Given the description of an element on the screen output the (x, y) to click on. 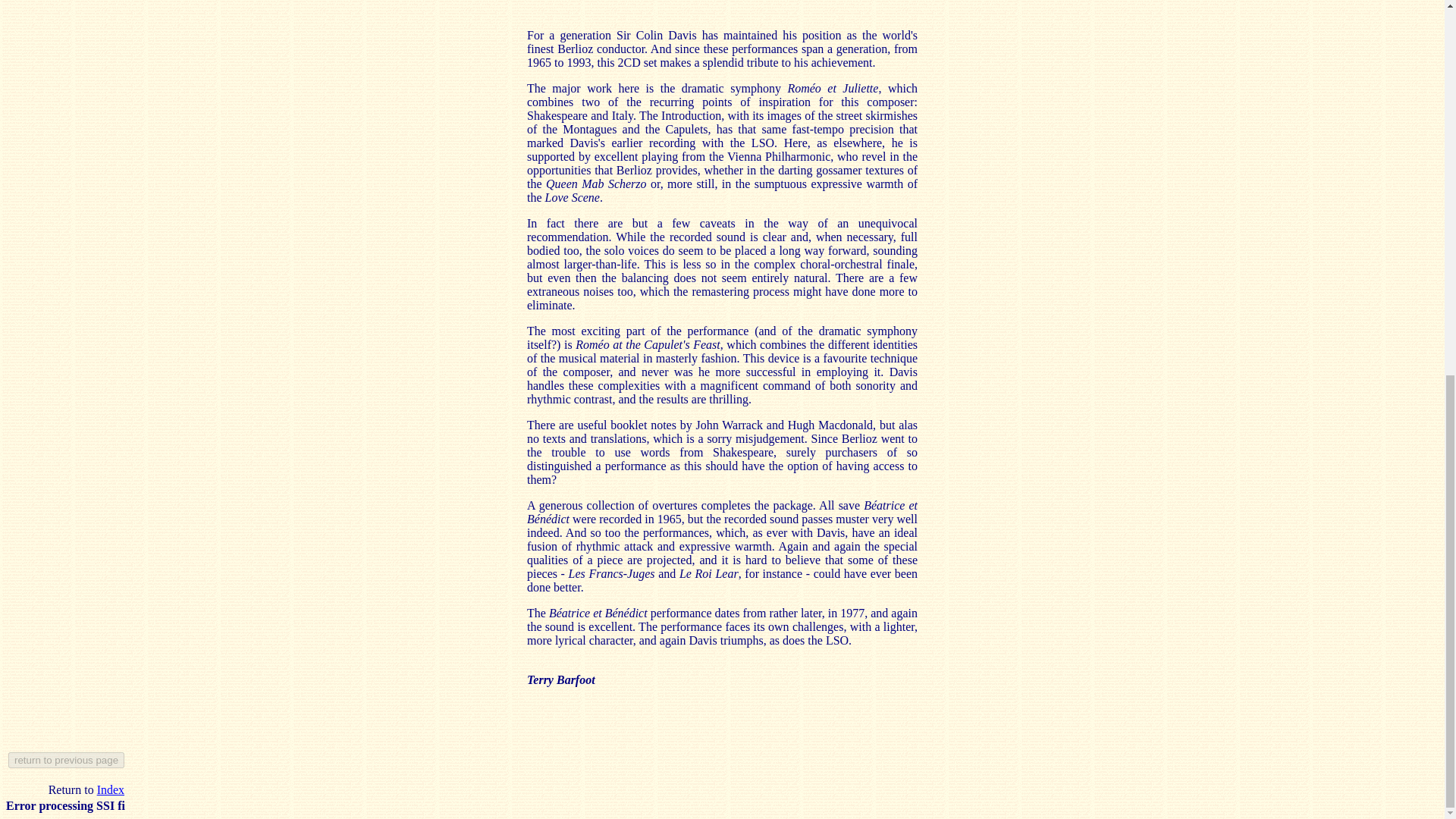
return to previous page (65, 760)
